Given the description of an element on the screen output the (x, y) to click on. 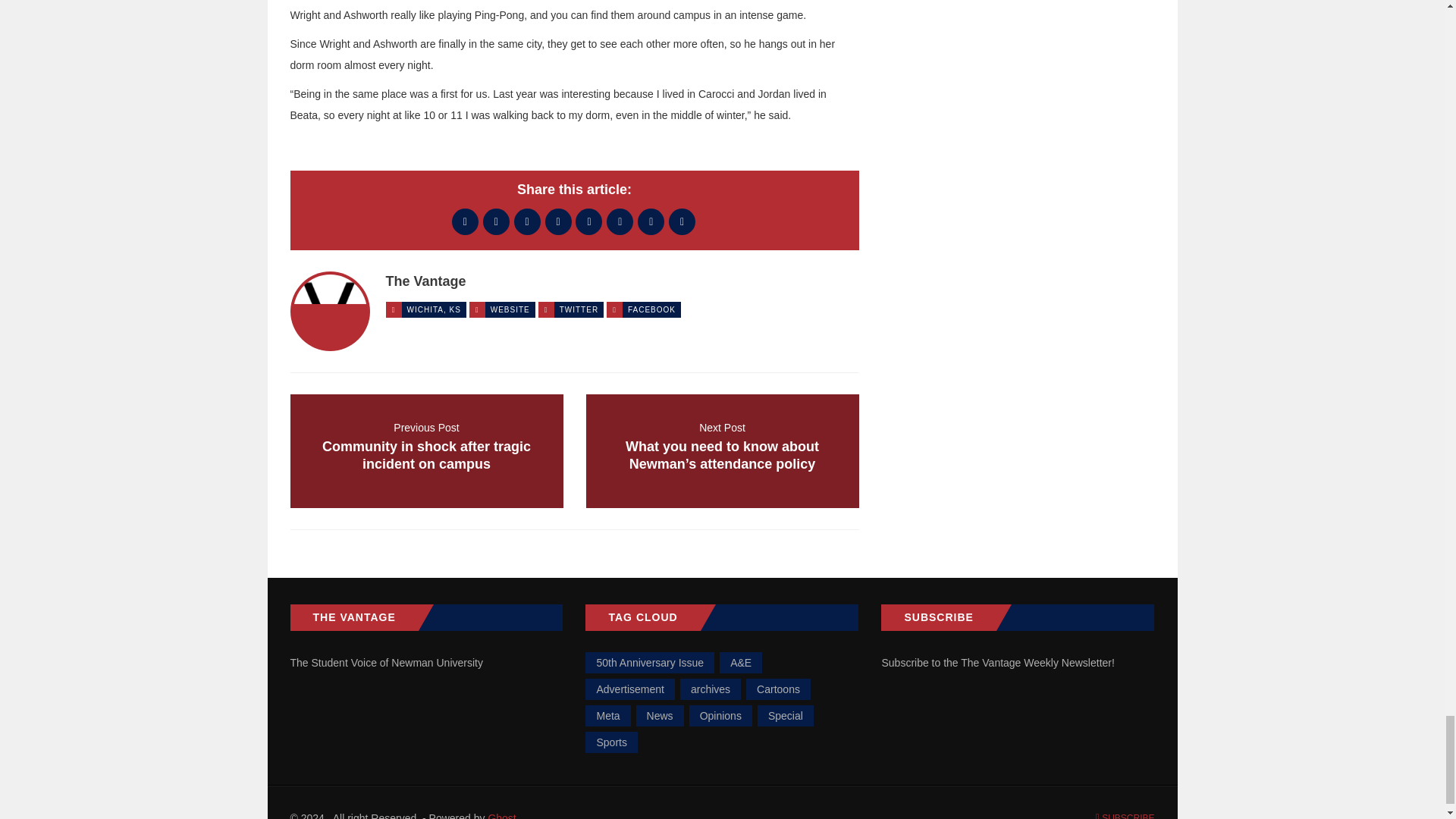
Digg (558, 221)
Advertisement (629, 689)
TWITTER (578, 309)
Linkedin (620, 221)
WEBSITE (509, 309)
The Vantage (425, 281)
50th Anniversary Issue (649, 662)
Twitter (496, 221)
Reddit (588, 221)
